Given the description of an element on the screen output the (x, y) to click on. 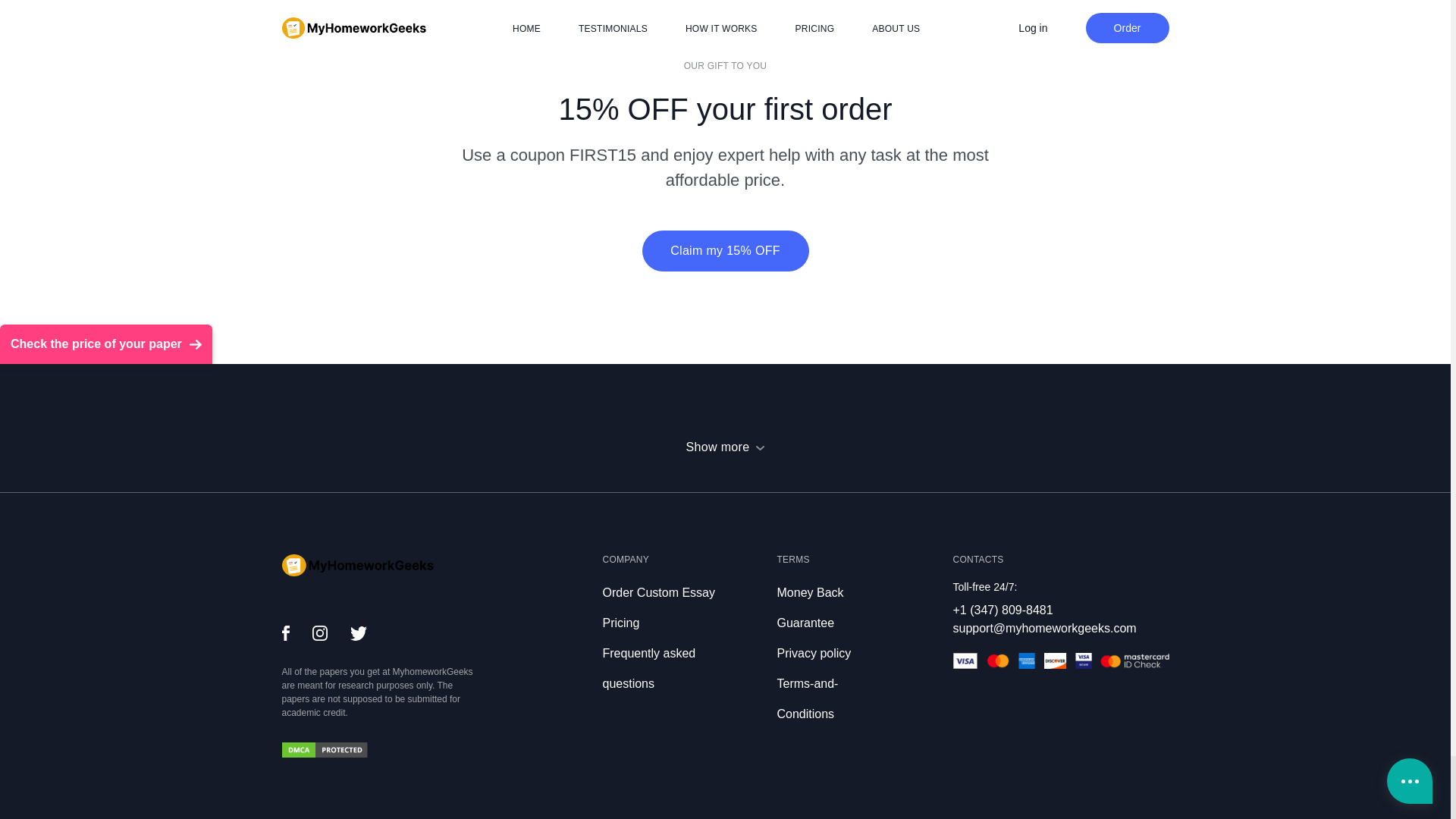
Order Custom Essay (658, 592)
Terms-and-Conditions (807, 698)
Pricing (620, 622)
Frequently asked questions (648, 668)
Money Back Guarantee (809, 607)
Show more (725, 446)
Privacy policy (813, 653)
